Given the description of an element on the screen output the (x, y) to click on. 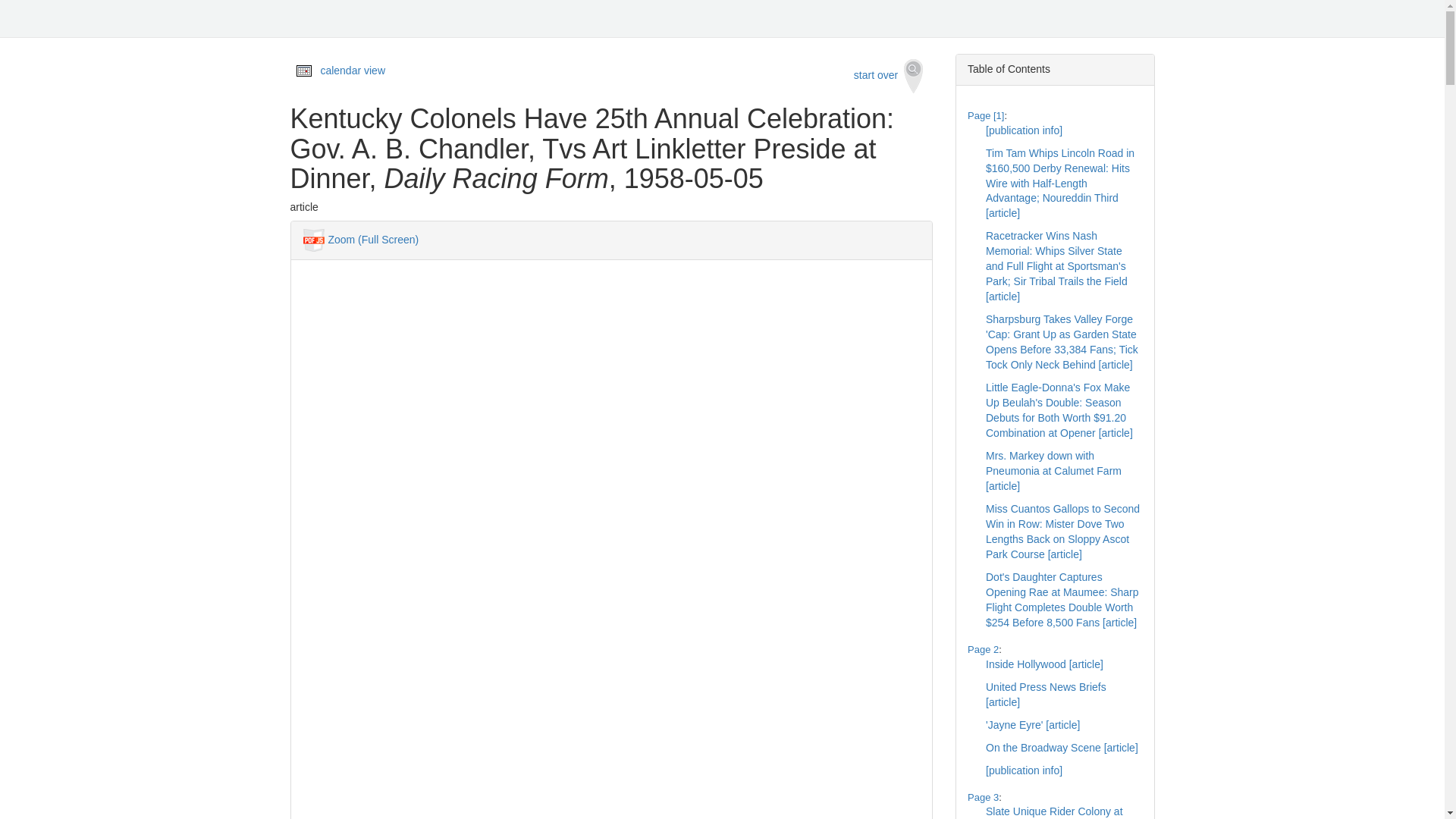
Page 2 (983, 649)
Page 3 (983, 797)
calendar view (352, 70)
start over   (888, 76)
